Given the description of an element on the screen output the (x, y) to click on. 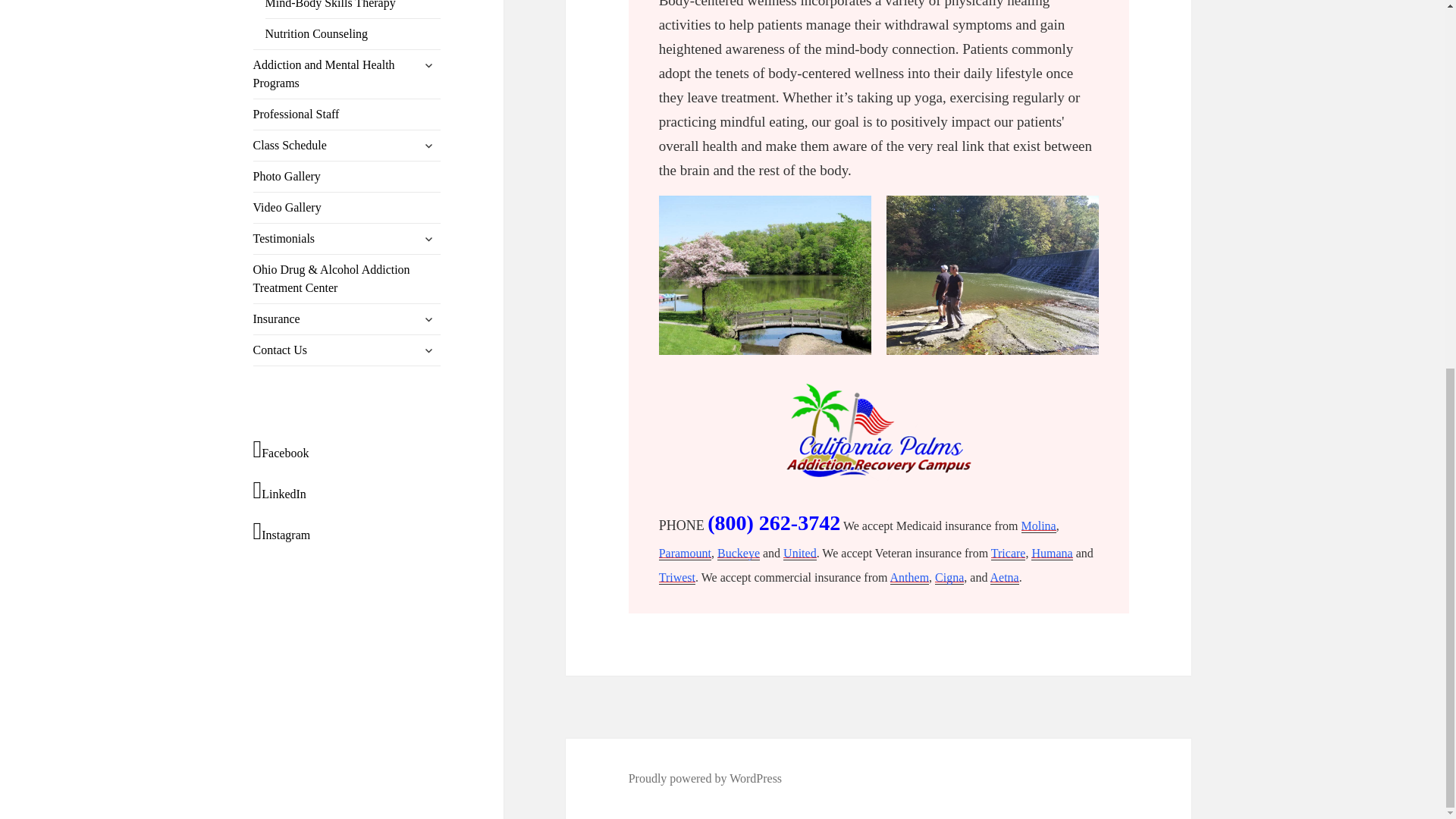
Nutrition Counseling (352, 33)
Addiction and Mental Health Programs (347, 73)
expand child menu (428, 64)
Mind-Body Skills Therapy (352, 9)
